Given the description of an element on the screen output the (x, y) to click on. 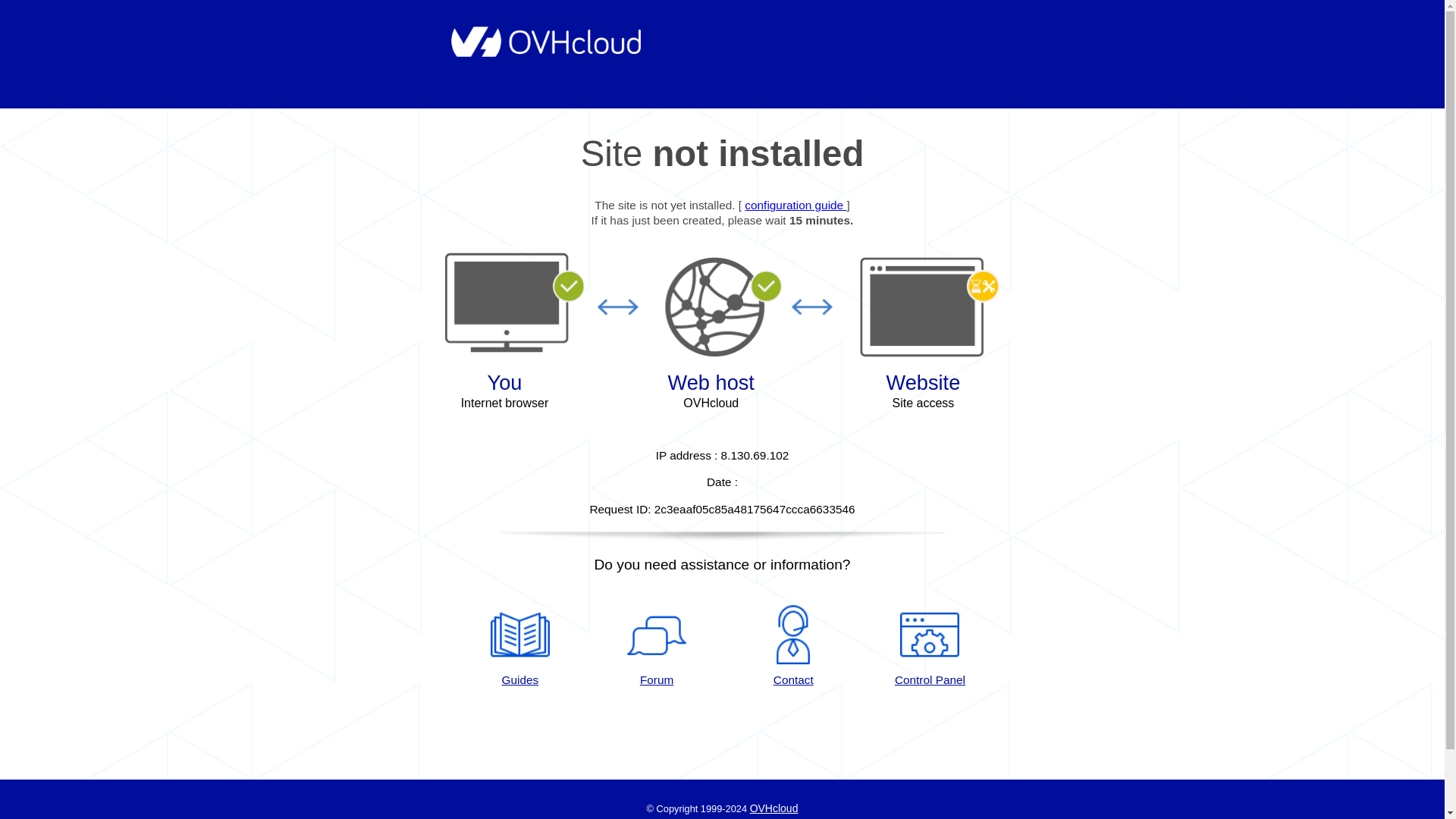
Guides (519, 646)
Contact (793, 646)
Contact (793, 646)
Control Panel (930, 646)
Control Panel (930, 646)
Forum (656, 646)
Forum (656, 646)
Guides (519, 646)
configuration guide (794, 205)
Guides (794, 205)
OVHcloud (773, 808)
